Given the description of an element on the screen output the (x, y) to click on. 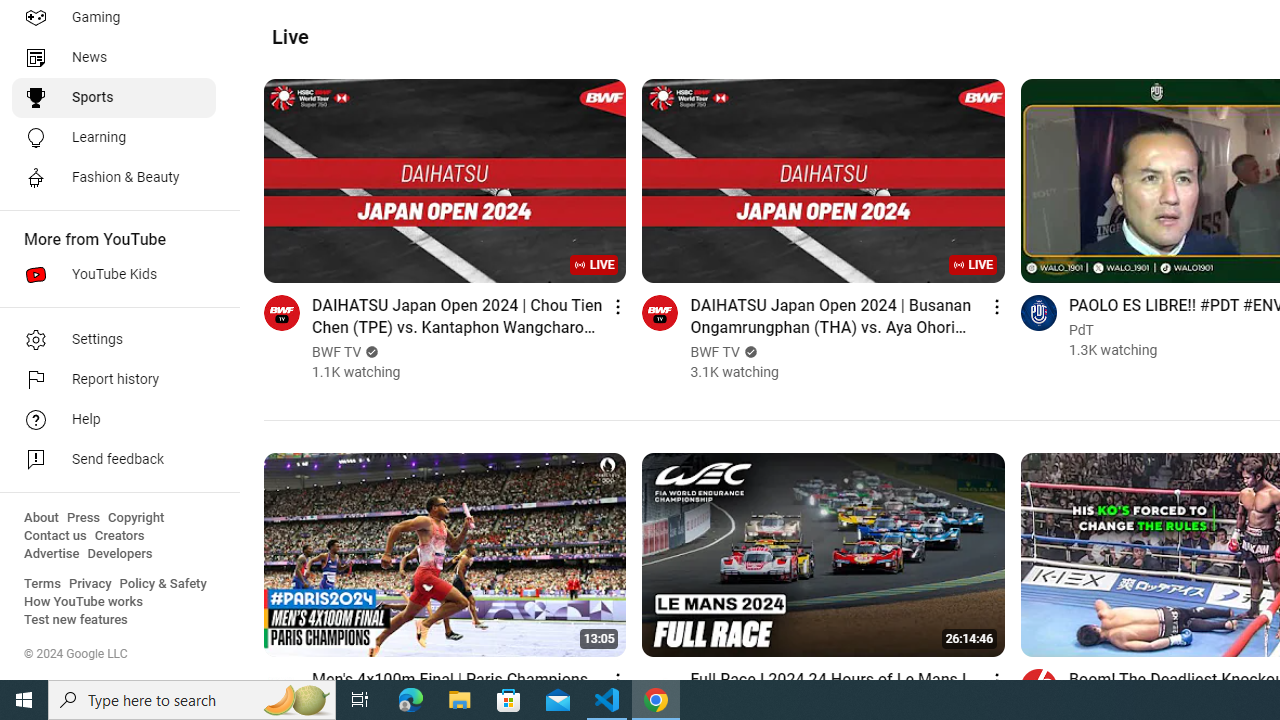
Press (83, 518)
